Given the description of an element on the screen output the (x, y) to click on. 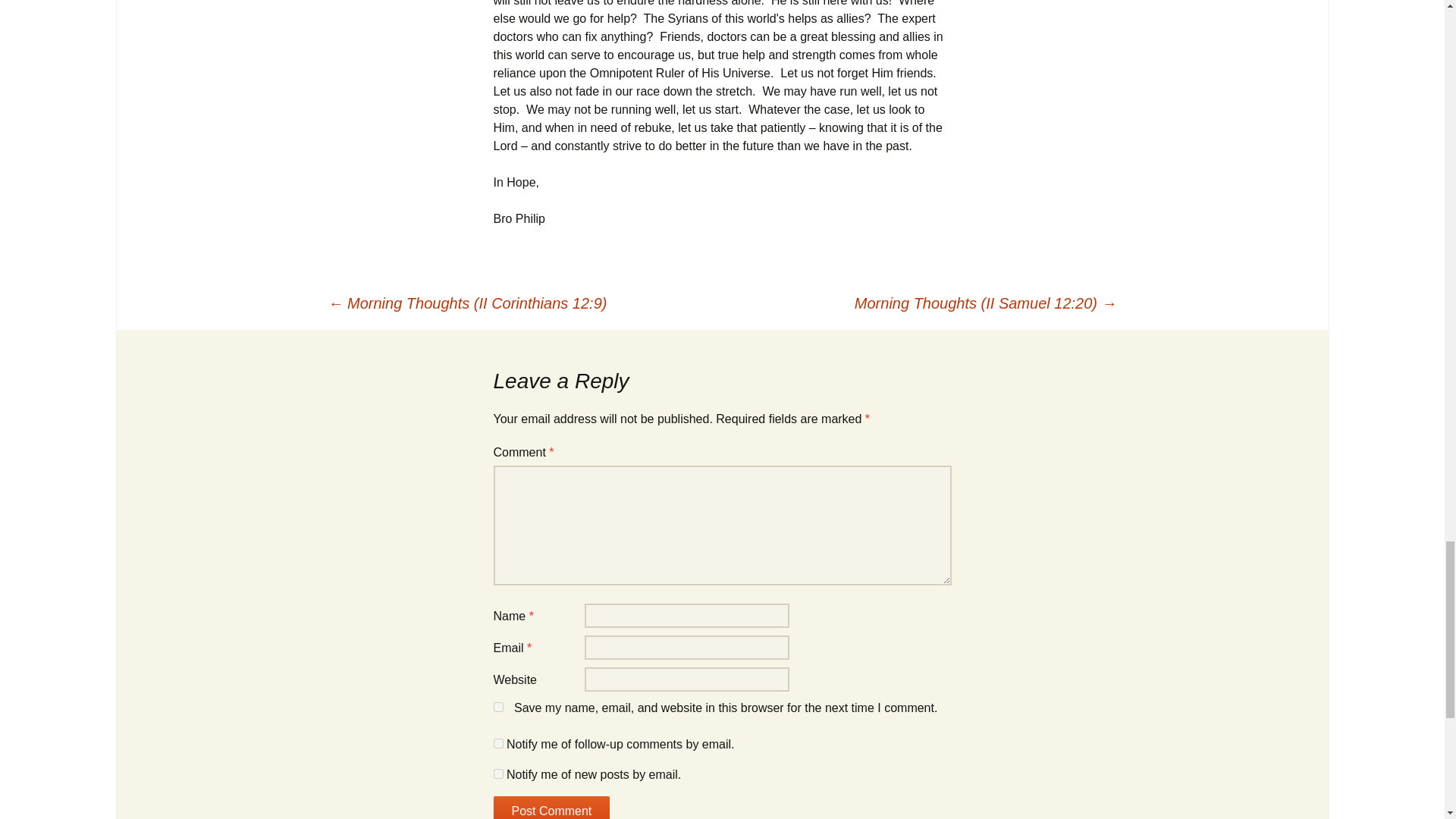
subscribe (497, 773)
subscribe (497, 743)
Post Comment (551, 807)
Post Comment (551, 807)
yes (497, 706)
